Given the description of an element on the screen output the (x, y) to click on. 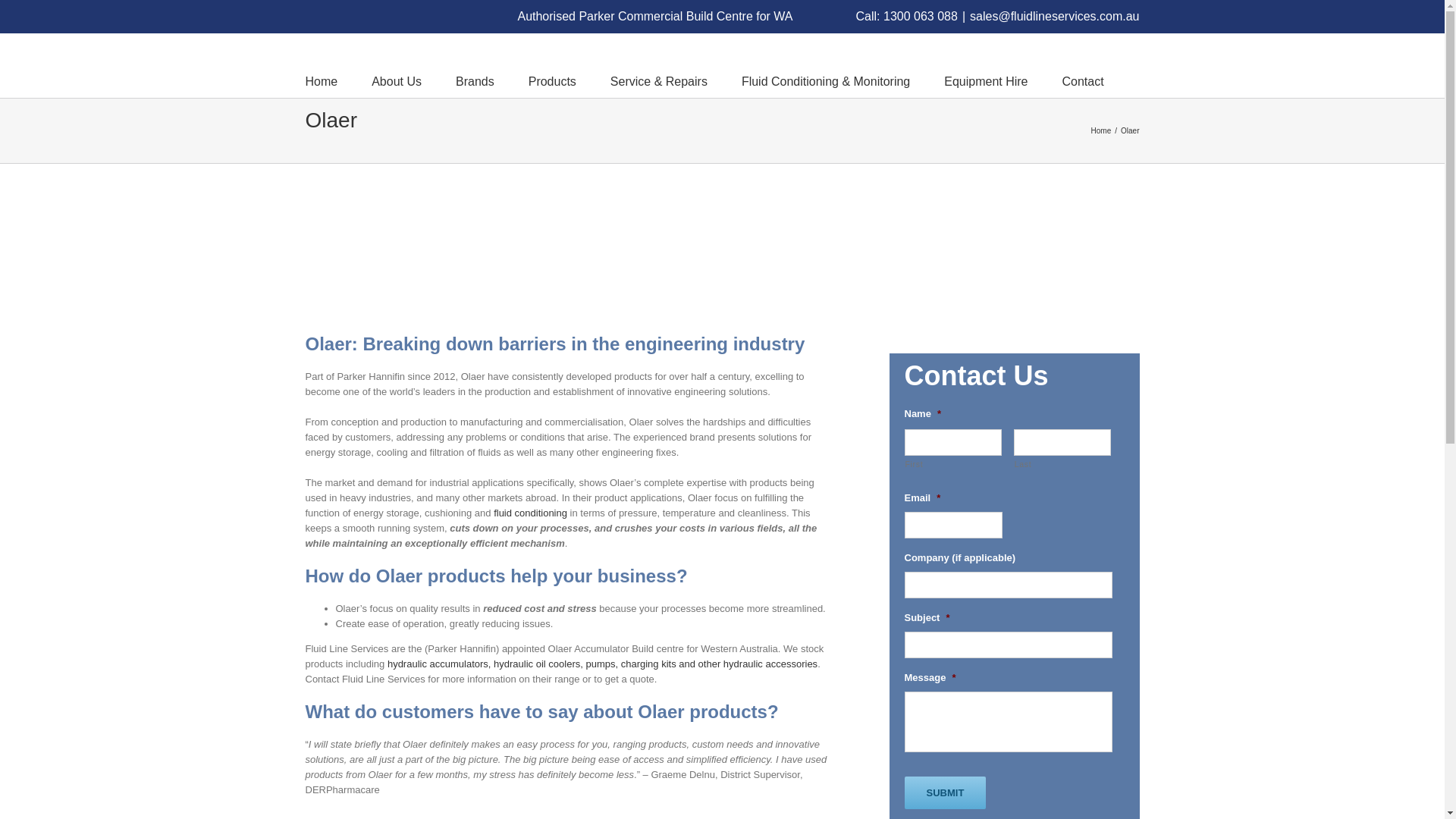
Brands (475, 80)
Submit (944, 792)
Home (320, 80)
Contact (1082, 80)
Equipment Hire (985, 80)
Products (552, 80)
About Us (396, 80)
